Given the description of an element on the screen output the (x, y) to click on. 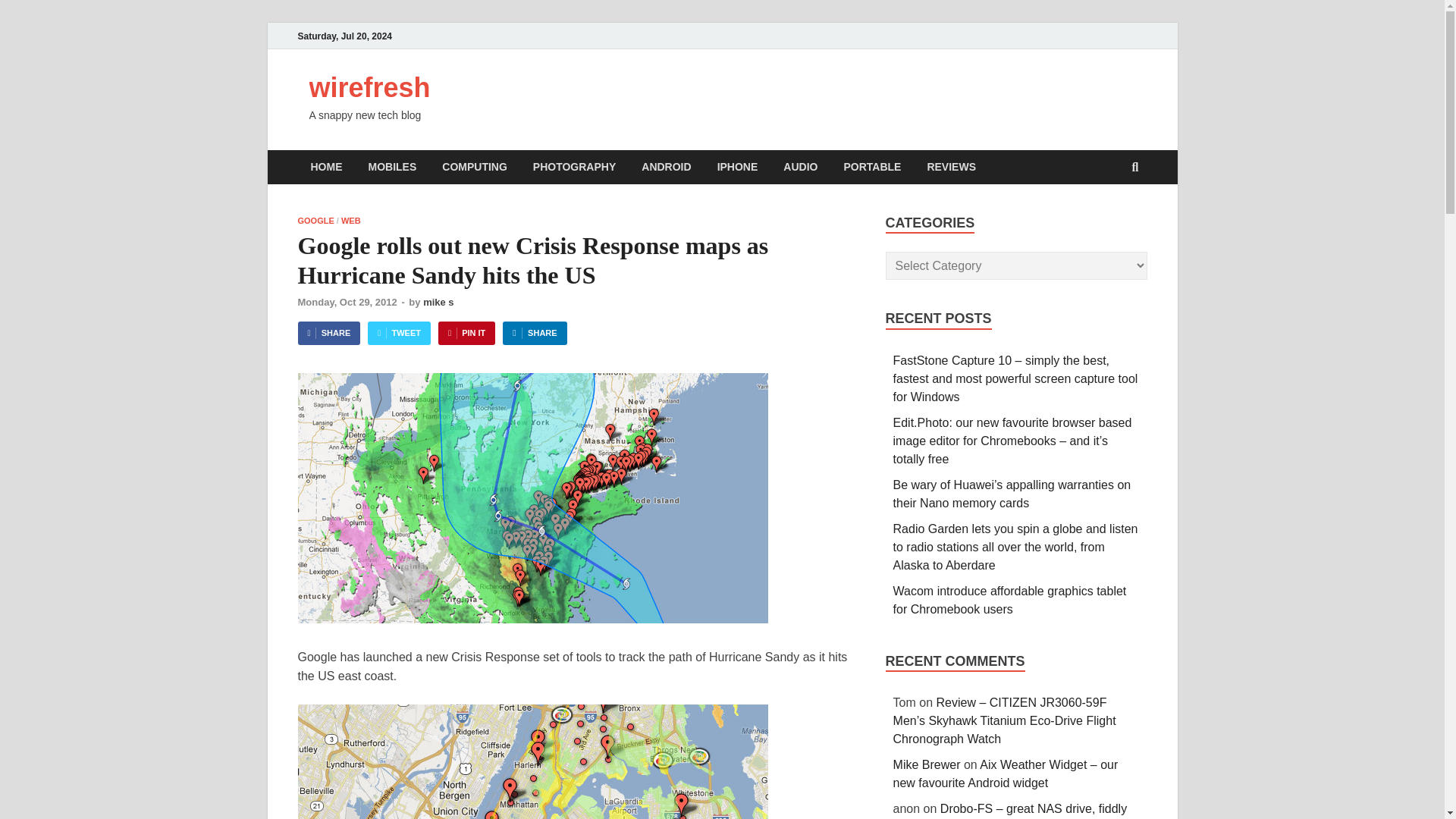
GOOGLE (315, 220)
MOBILES (392, 166)
PHOTOGRAPHY (573, 166)
wirefresh (369, 87)
TWEET (399, 332)
Monday, Oct 29, 2012 (346, 301)
mike s (437, 301)
WEB (350, 220)
ANDROID (665, 166)
PORTABLE (871, 166)
COMPUTING (474, 166)
PIN IT (466, 332)
HOME (326, 166)
